Given the description of an element on the screen output the (x, y) to click on. 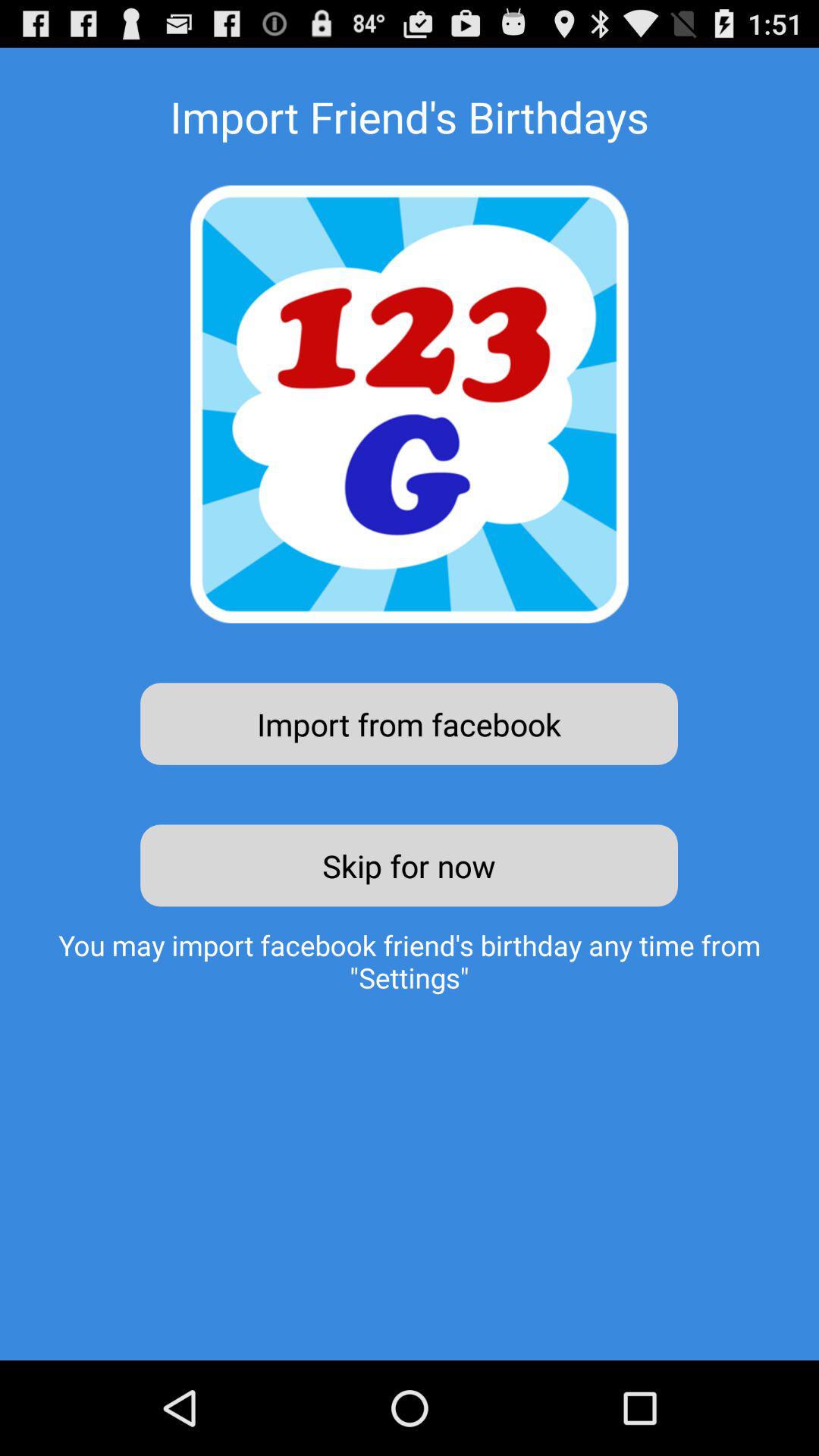
press item below import from facebook (408, 865)
